Given the description of an element on the screen output the (x, y) to click on. 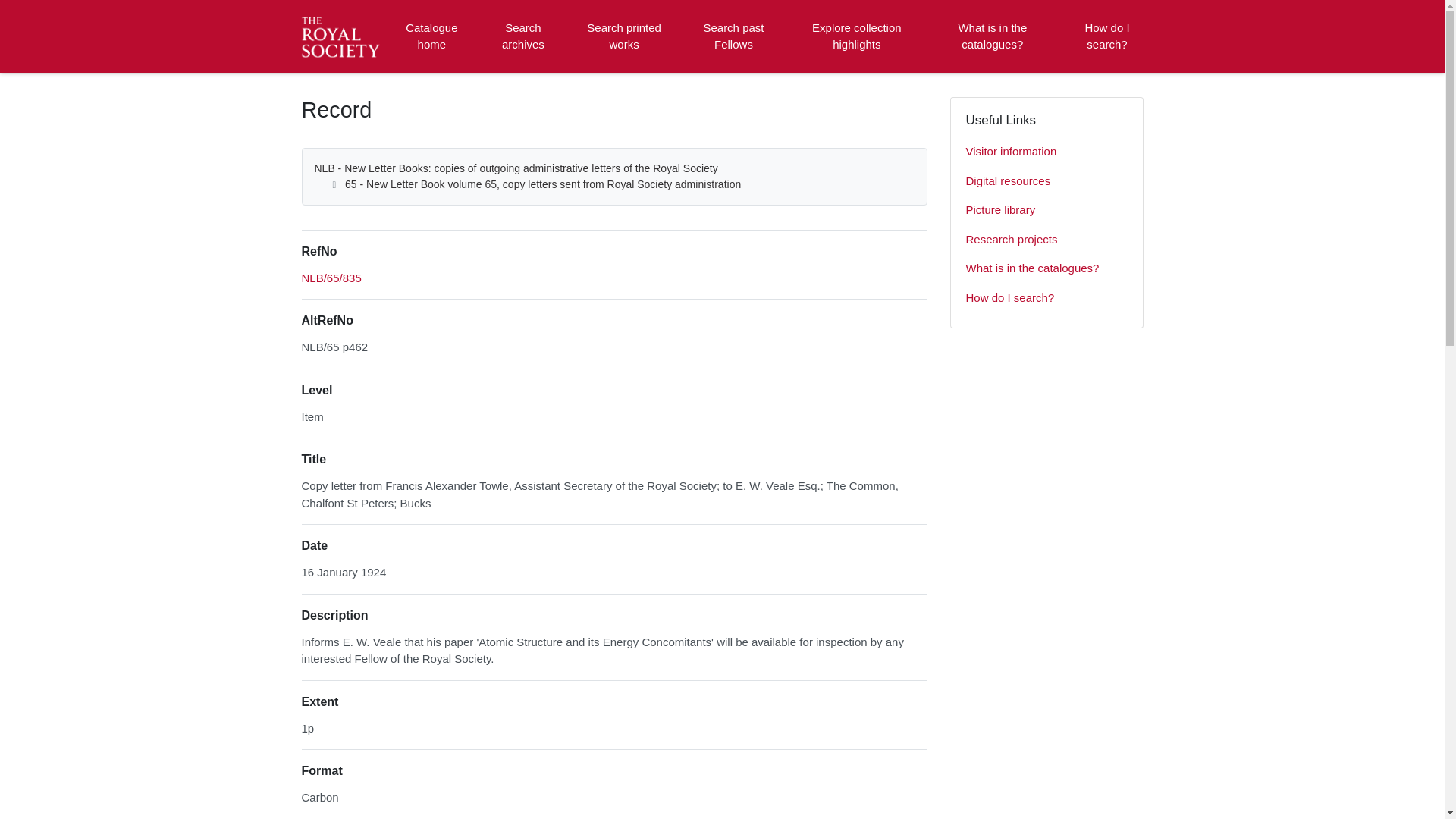
How do I search? (1106, 36)
What is in the catalogues? (991, 36)
Homepage (343, 36)
How do I search? (1046, 297)
Search past Fellows (732, 36)
Research projects (1046, 239)
Catalogue home (431, 36)
Browse record in hierarchy. (331, 277)
Visitor information (1046, 152)
